Given the description of an element on the screen output the (x, y) to click on. 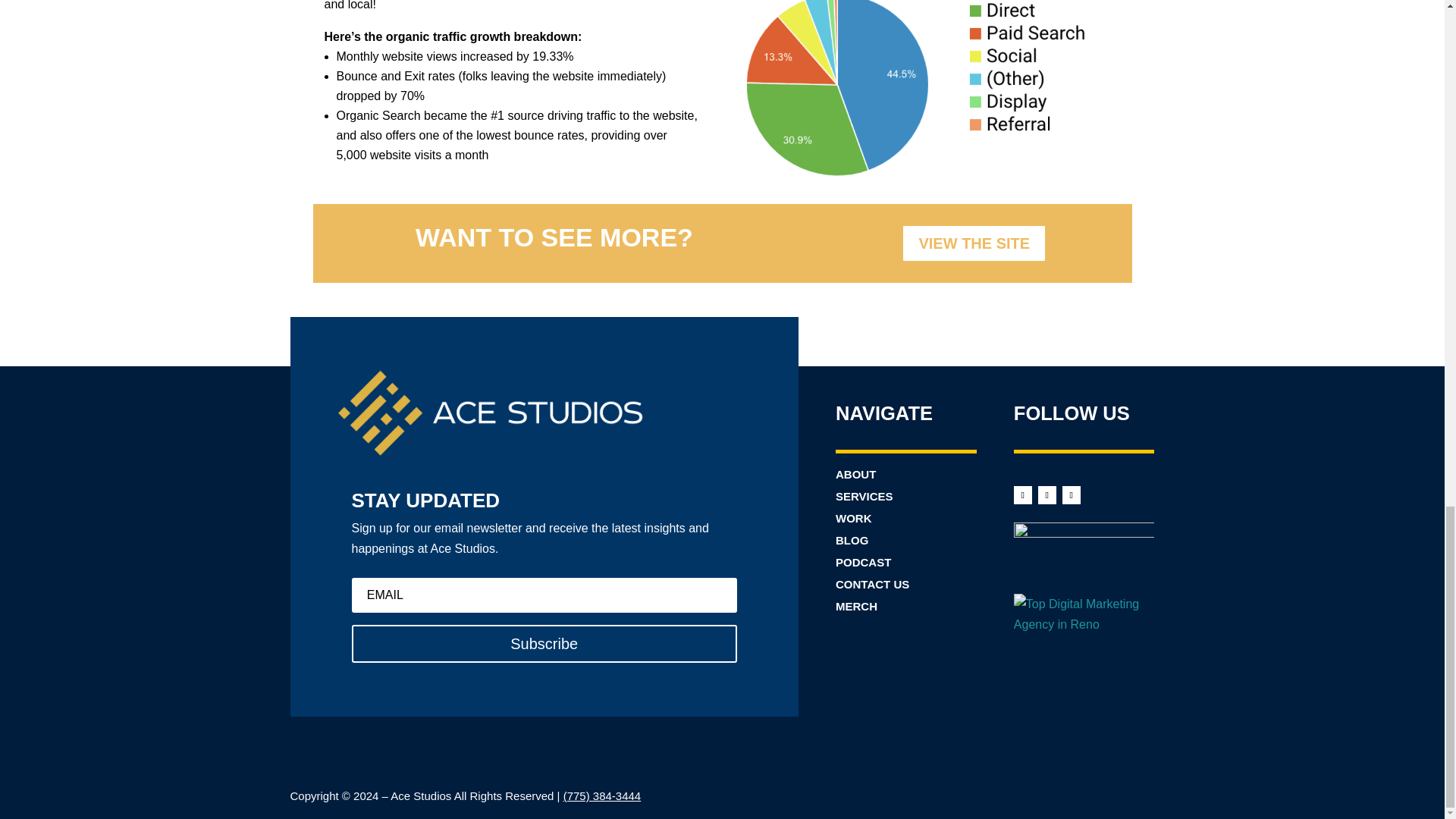
ABOUT (855, 473)
Follow on Vimeo (1071, 495)
ace-logo-white (490, 411)
Follow on Instagram (1047, 495)
BLOG (851, 540)
WORK (853, 517)
CONTACT US (871, 584)
Screen Shot 2022-06-28 at 1.14.36 AM (931, 91)
Follow on Facebook (1022, 495)
SERVICES (864, 495)
